Given the description of an element on the screen output the (x, y) to click on. 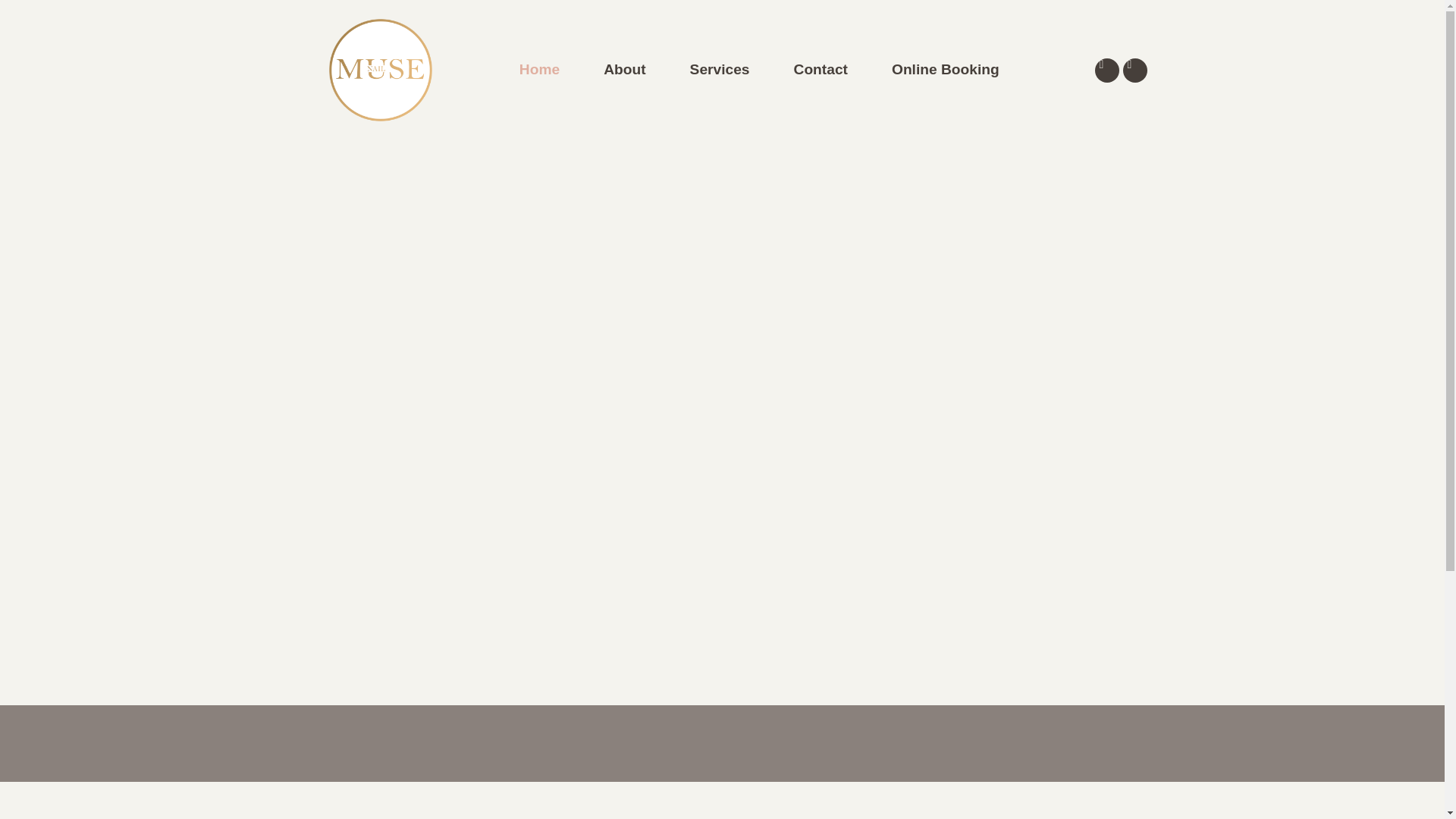
About (624, 69)
Services (719, 69)
Home (539, 69)
Contact (821, 69)
Online Booking (945, 69)
